Given the description of an element on the screen output the (x, y) to click on. 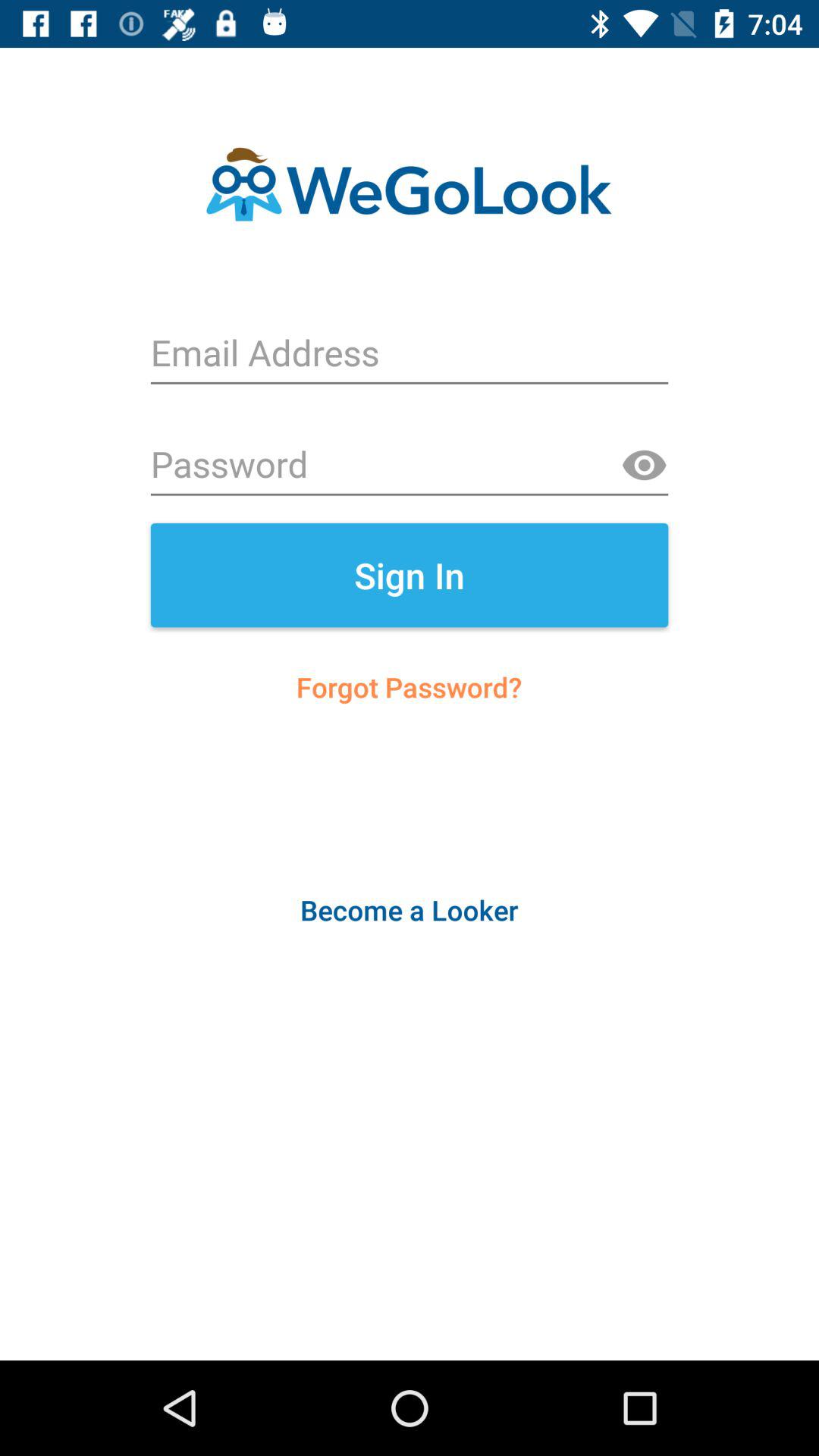
turn off item below forgot password? (409, 909)
